Given the description of an element on the screen output the (x, y) to click on. 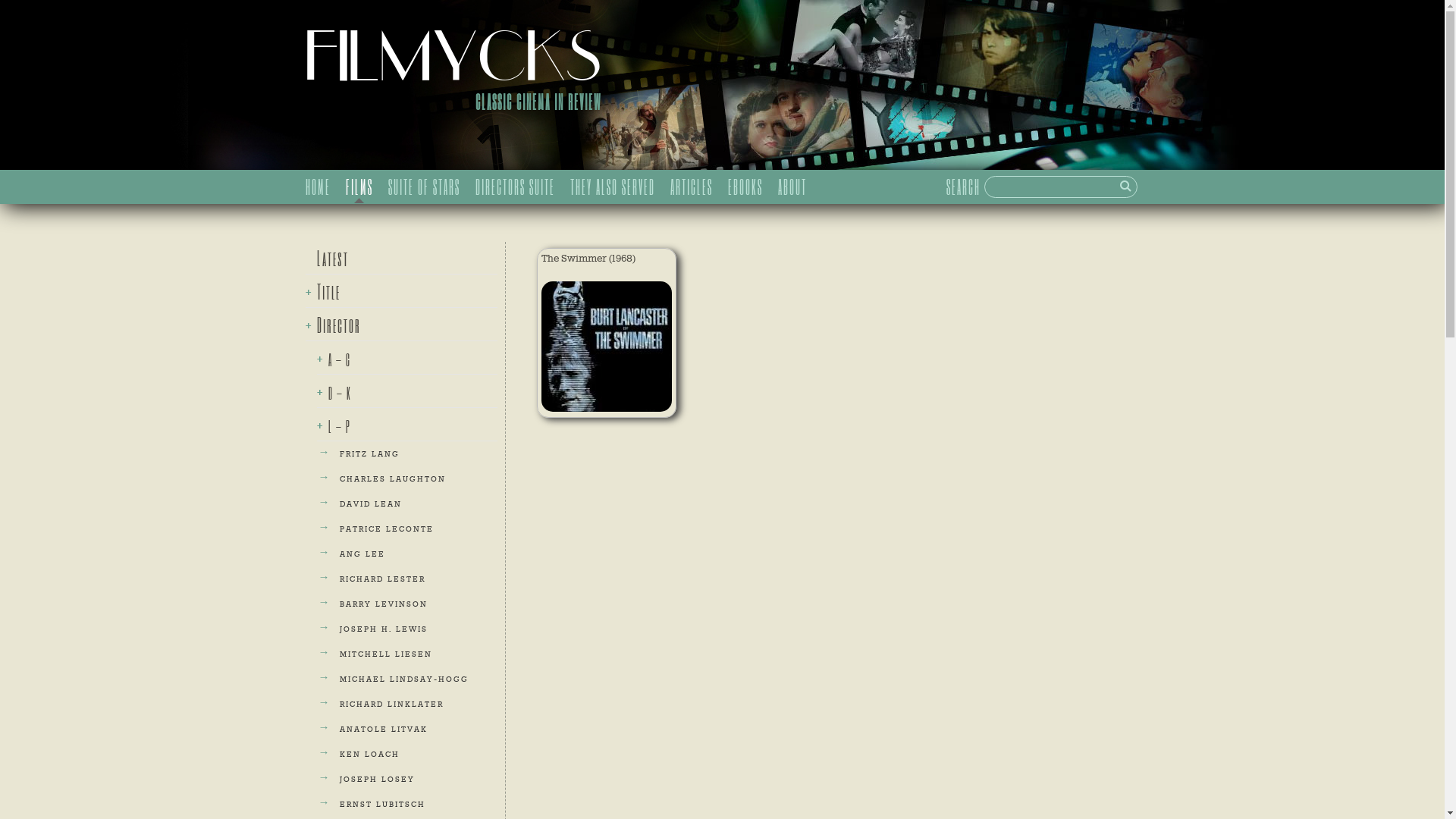
FILMS Element type: text (359, 186)
SUITE OF STARS Element type: text (424, 186)
HOME Element type: text (316, 186)
EBOOKS Element type: text (745, 186)
The Swimmer (1968) Element type: text (606, 333)
Latest Element type: text (326, 257)
L Element type: text (1125, 185)
THEY ALSO SERVED Element type: text (612, 186)
ARTICLES Element type: text (691, 186)
DIRECTORS SUITE Element type: text (514, 186)
FILMYCKS
CLASSIC CINEMA IN REVIEW Element type: text (452, 84)
ABOUT Element type: text (792, 186)
